Given the description of an element on the screen output the (x, y) to click on. 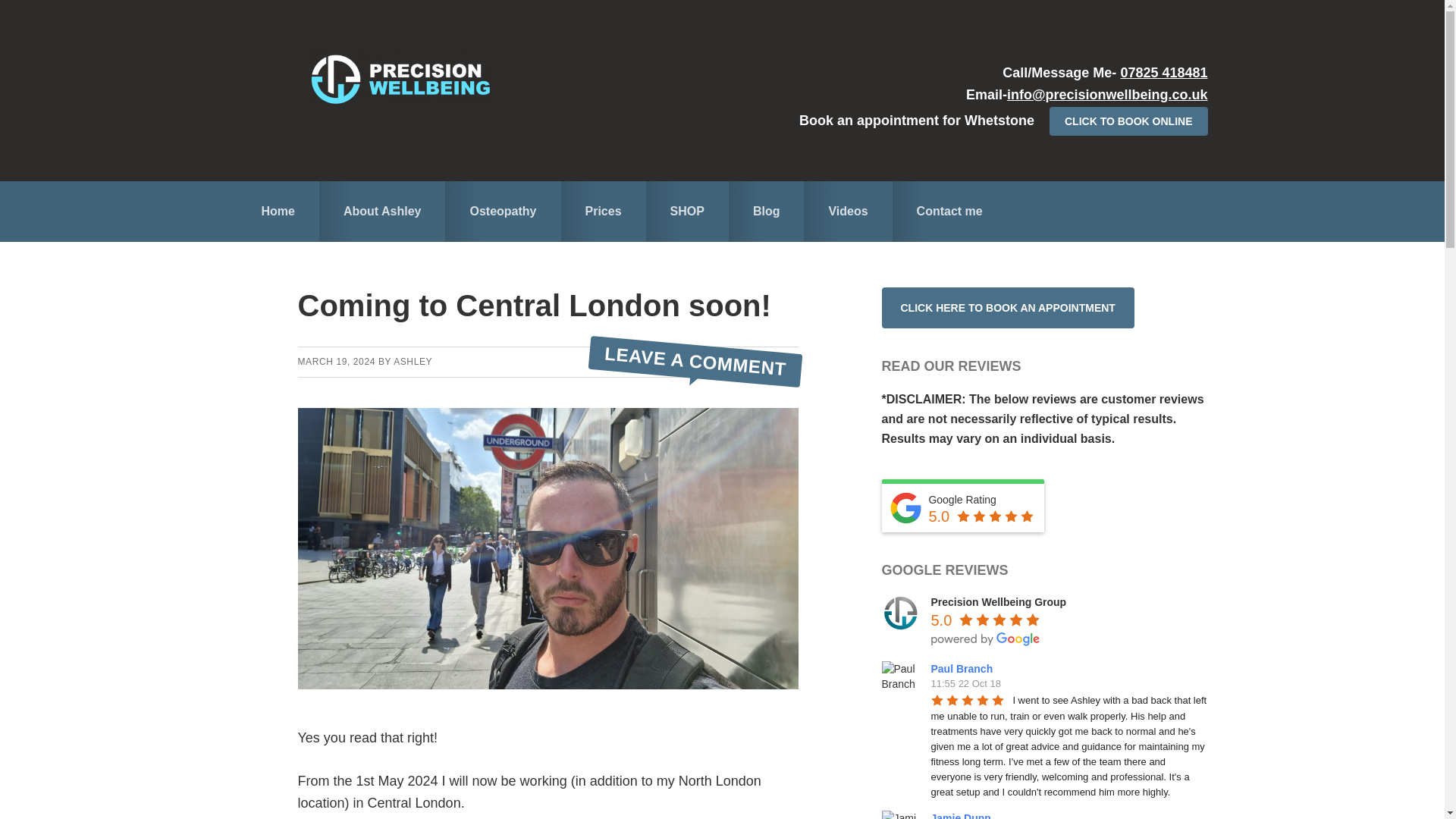
Home (276, 210)
ASHLEY (412, 361)
Blog (767, 210)
SHOP (687, 210)
Videos (847, 210)
Precision Wellbeing Group (999, 602)
Contact me (949, 210)
Prices (603, 210)
07825 418481 (1163, 72)
